Given the description of an element on the screen output the (x, y) to click on. 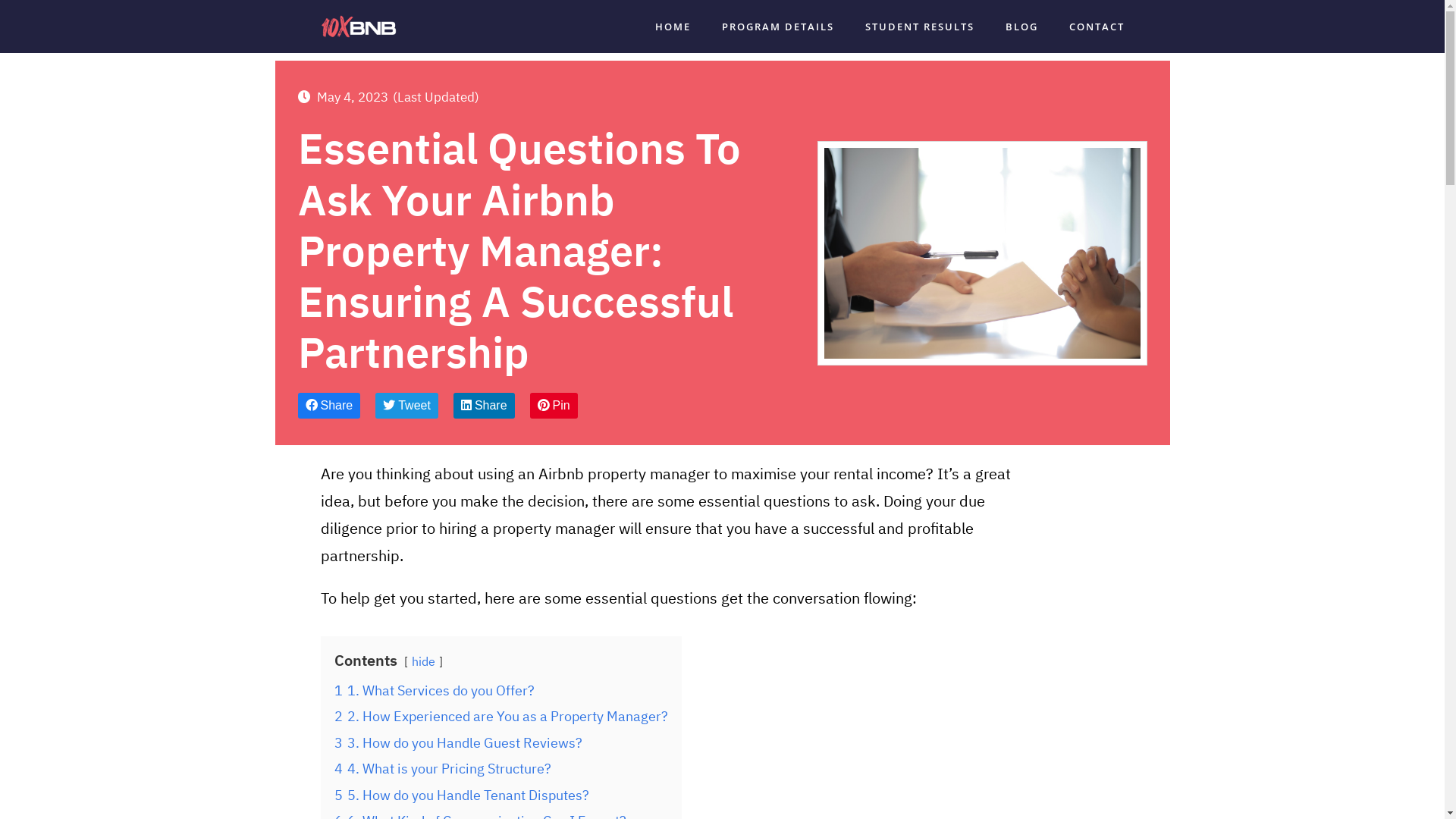
PROGRAM DETAILS Element type: text (777, 26)
hide Element type: text (422, 660)
4 4. What is your Pricing Structure? Element type: text (441, 768)
5 5. How do you Handle Tenant Disputes? Element type: text (460, 794)
Pin Element type: text (553, 405)
2 2. How Experienced are You as a Property Manager? Element type: text (500, 715)
1 1. What Services do you Offer? Element type: text (433, 690)
Tweet Element type: text (406, 405)
Share Element type: text (328, 405)
3 3. How do you Handle Guest Reviews? Element type: text (457, 742)
CONTACT Element type: text (1096, 26)
STUDENT RESULTS Element type: text (918, 26)
Share Element type: text (483, 405)
BLOG Element type: text (1021, 26)
HOME Element type: text (672, 26)
